Given the description of an element on the screen output the (x, y) to click on. 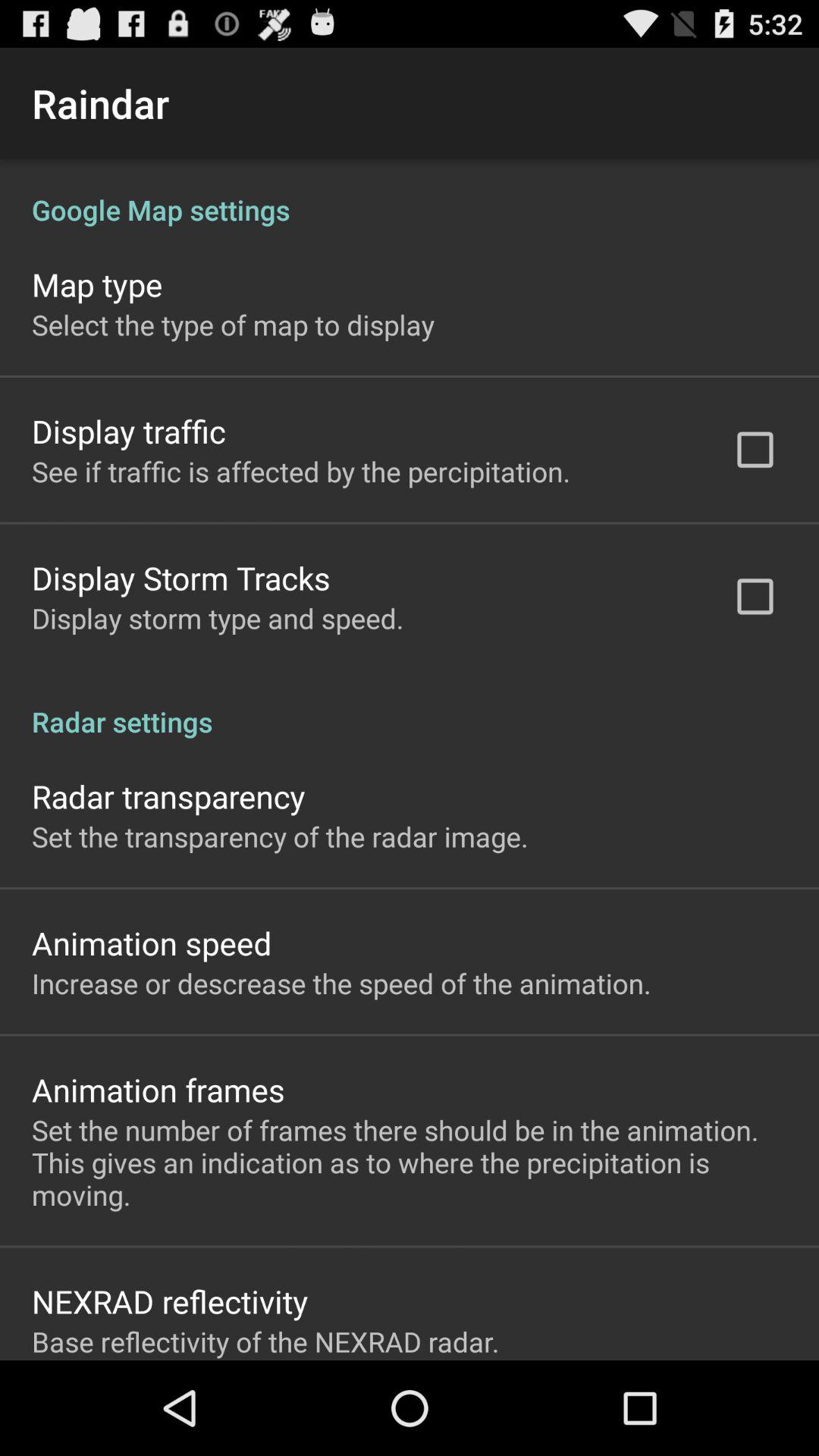
launch see if traffic icon (300, 471)
